Given the description of an element on the screen output the (x, y) to click on. 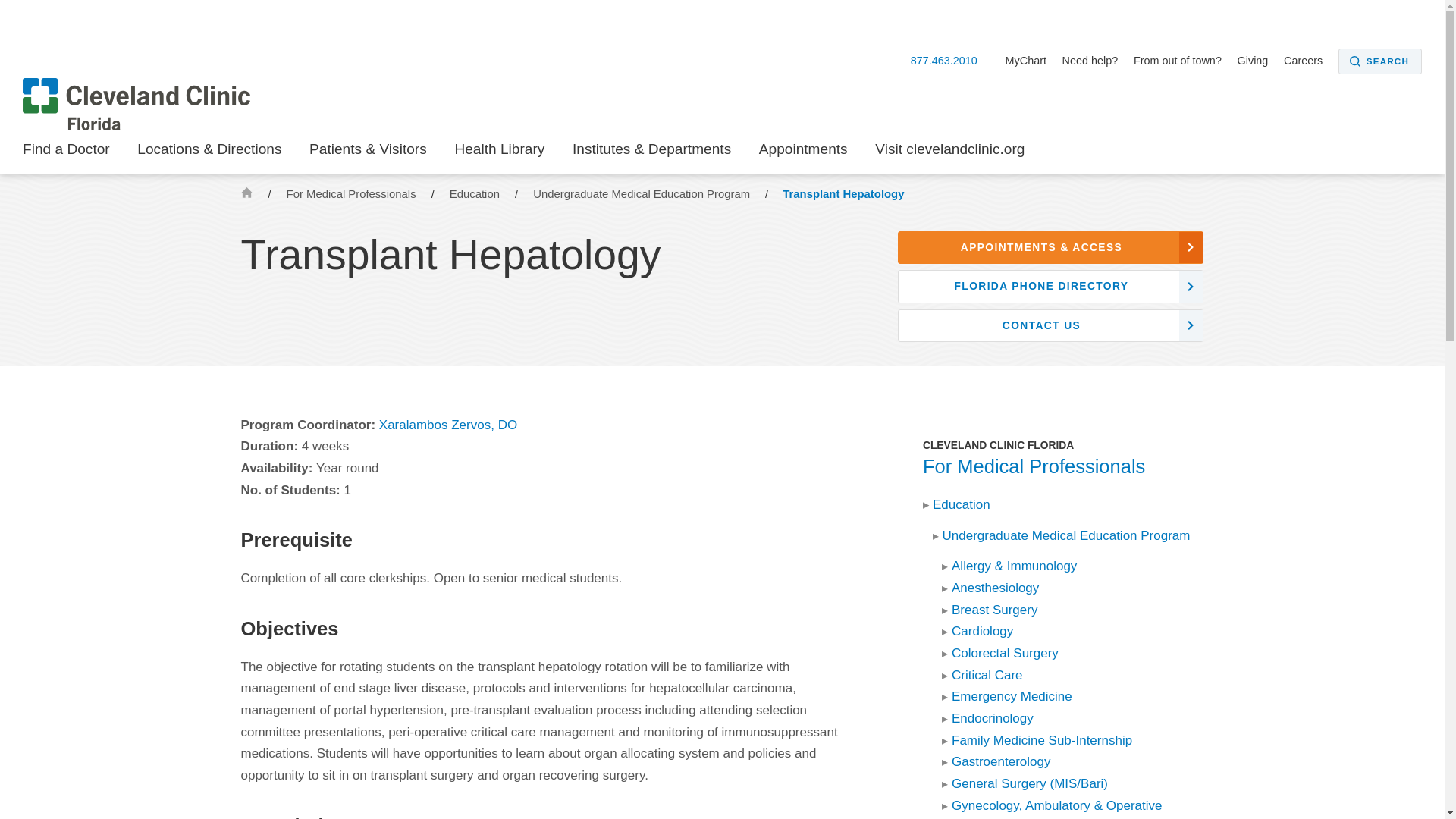
Appointments (802, 153)
MyChart (1032, 60)
Education (475, 193)
SEARCH (1380, 61)
877.463.2010 (951, 60)
Visit clevelandclinic.org (950, 153)
Careers (1309, 60)
Health Library (499, 153)
For Medical Professionals (352, 193)
Home (246, 192)
